Given the description of an element on the screen output the (x, y) to click on. 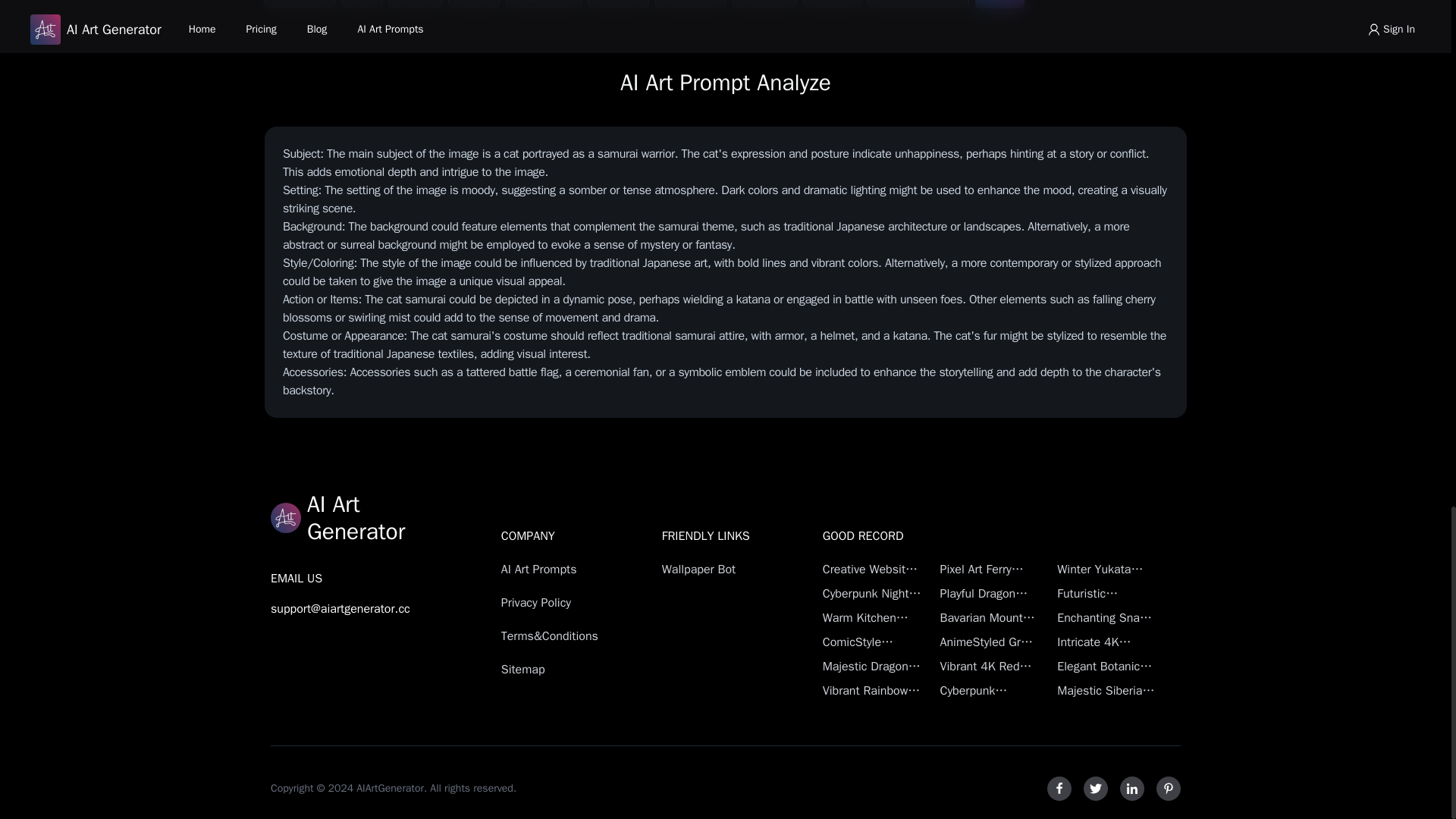
Character (299, 4)
emotional (690, 4)
Sitemap (553, 669)
Warrior (832, 4)
Sitemap (553, 669)
ComicStyle Newspaper Reading Scene (871, 642)
Playful Dragon Biting a Colorful Sock with Glee (989, 593)
Privacy Policy (553, 602)
